Given the description of an element on the screen output the (x, y) to click on. 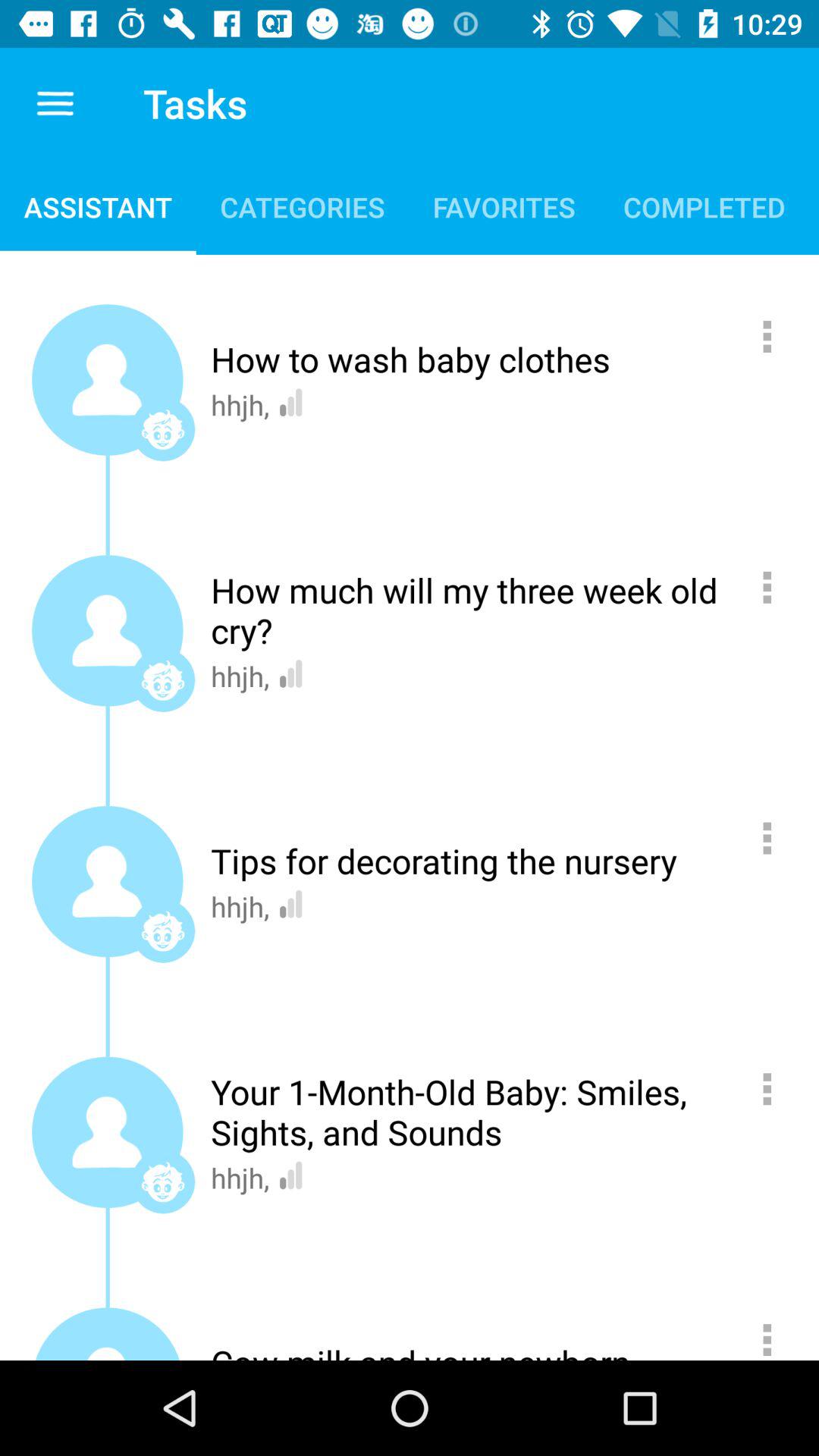
for more information we can use this option (775, 1089)
